Given the description of an element on the screen output the (x, y) to click on. 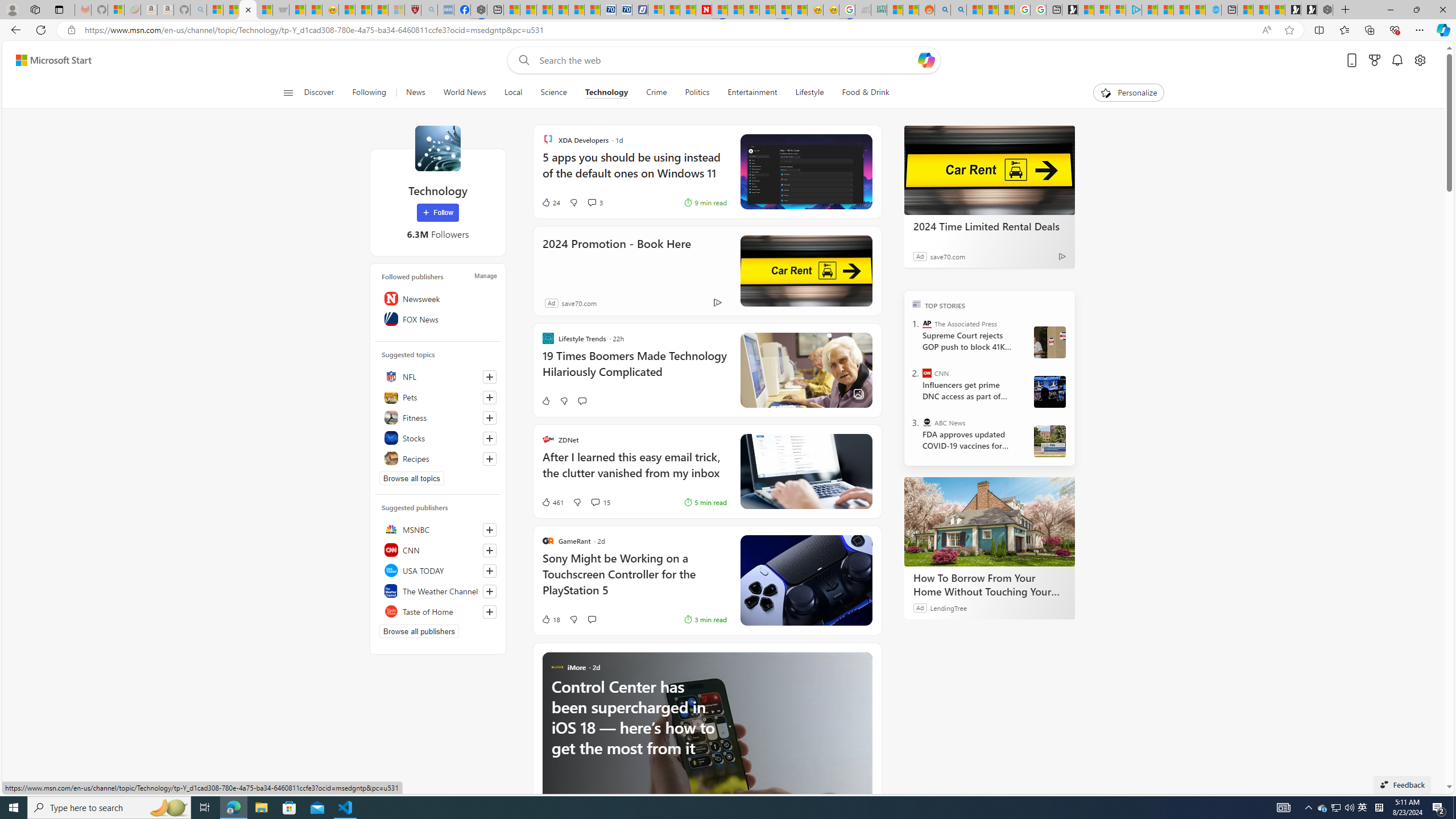
Recipes (437, 458)
CNN (927, 372)
Follow this topic (489, 458)
